Given the description of an element on the screen output the (x, y) to click on. 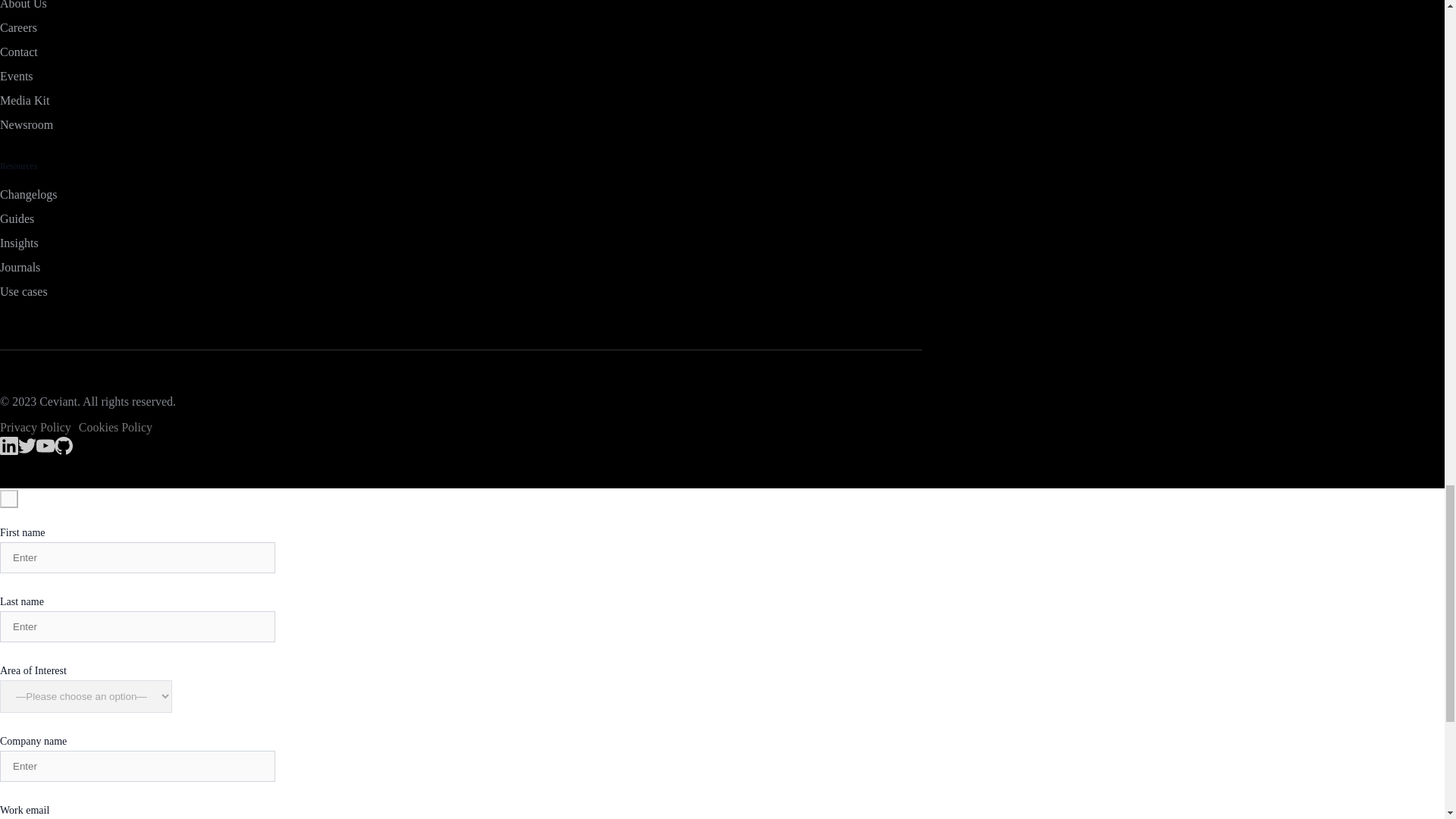
Careers (460, 27)
Contact (460, 52)
About Us (460, 6)
